Given the description of an element on the screen output the (x, y) to click on. 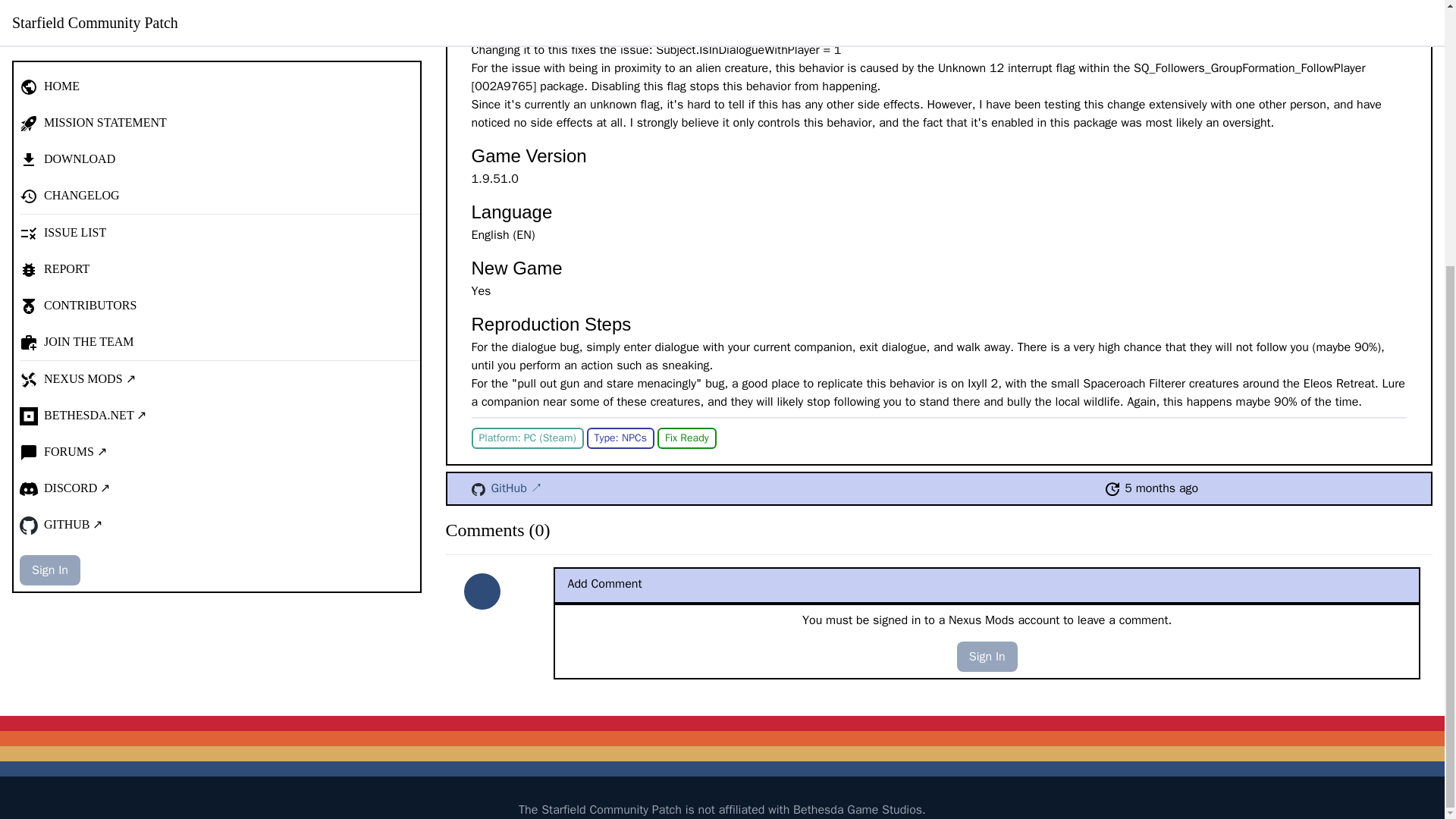
View on GitHub (477, 489)
Sign In (50, 184)
A fix for this issue is ready for merging and testing (687, 437)
Sign In (986, 656)
